Given the description of an element on the screen output the (x, y) to click on. 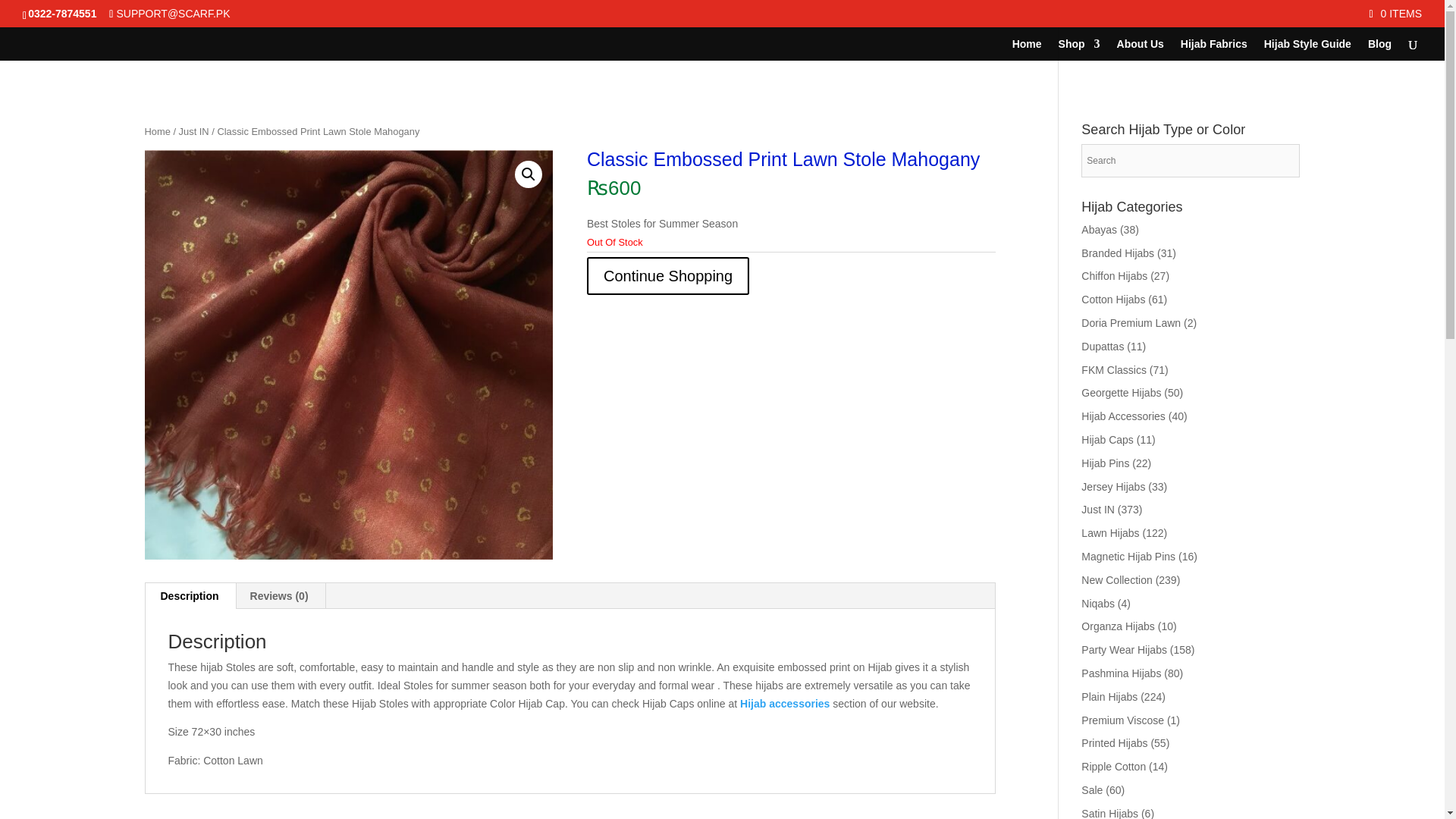
0 ITEMS (1395, 13)
Shop (1079, 49)
Hijab Fabrics (1213, 49)
About Us (1139, 49)
Home (1026, 49)
Blog (1379, 49)
Home (157, 131)
Hijab Style Guide (1307, 49)
